Given the description of an element on the screen output the (x, y) to click on. 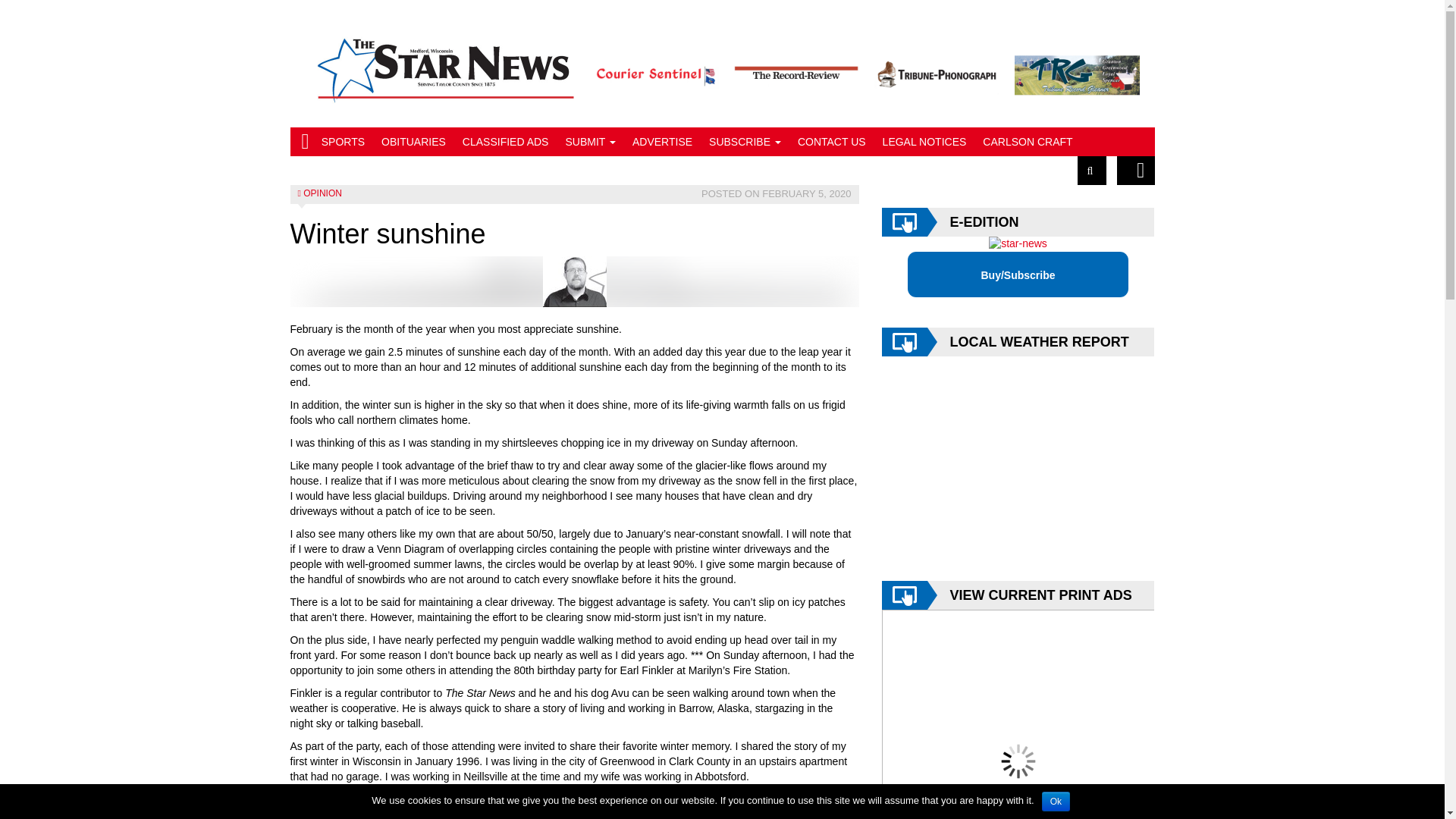
CLASSIFIED ADS (505, 141)
Advertise (662, 141)
CONTACT US (832, 141)
Contact Us (832, 141)
ADVERTISE (662, 141)
Legal Notices (925, 141)
Sports (342, 141)
OBITUARIES (413, 141)
SUBSCRIBE (744, 141)
LEGAL NOTICES (925, 141)
Subscribe (744, 141)
CARLSON CRAFT (1027, 141)
Classified Ads (505, 141)
SPORTS (342, 141)
Obituaries (413, 141)
